Given the description of an element on the screen output the (x, y) to click on. 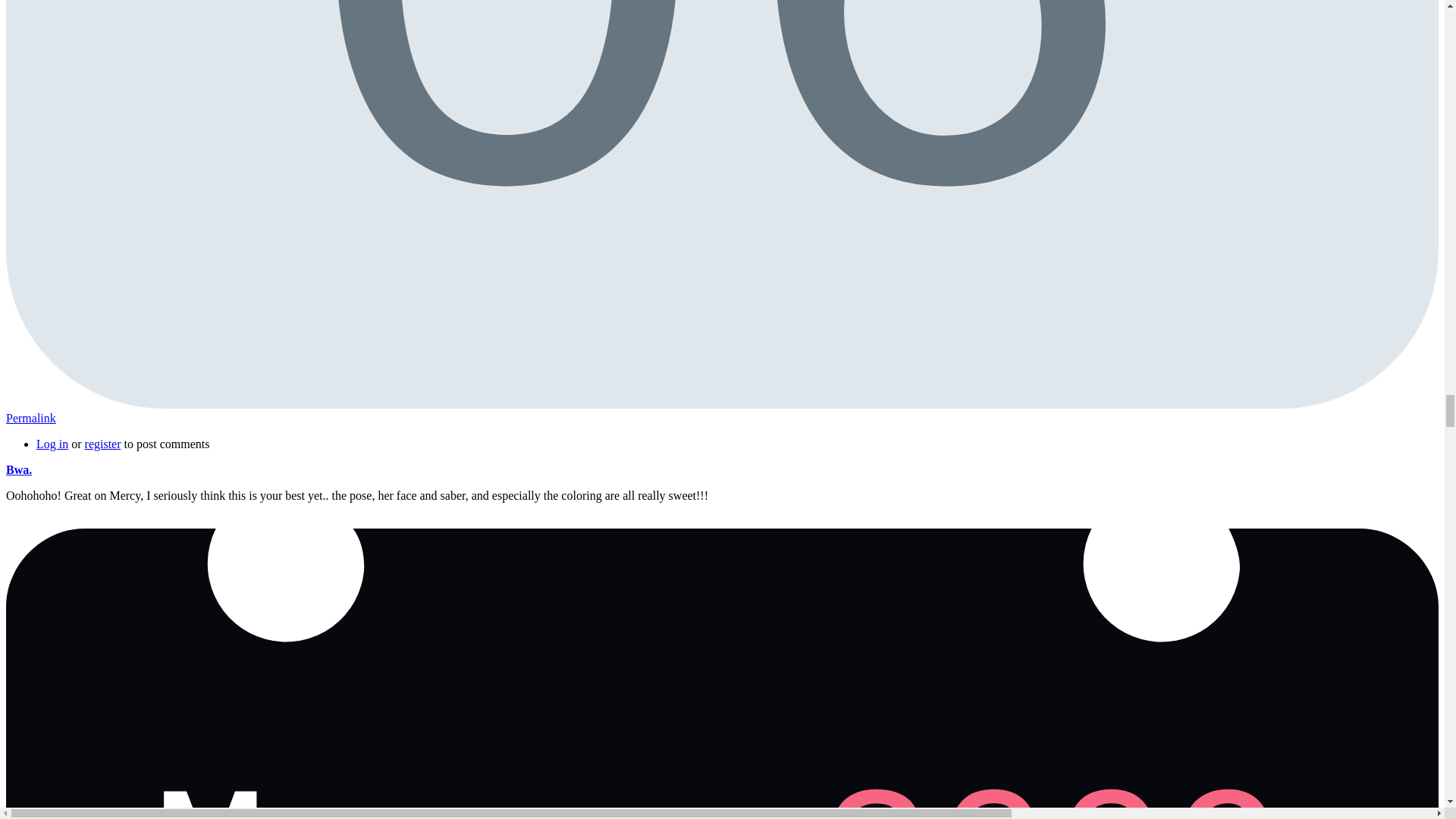
Permalink (30, 418)
register (102, 443)
Log in (18, 469)
Bwa. (52, 443)
